Given the description of an element on the screen output the (x, y) to click on. 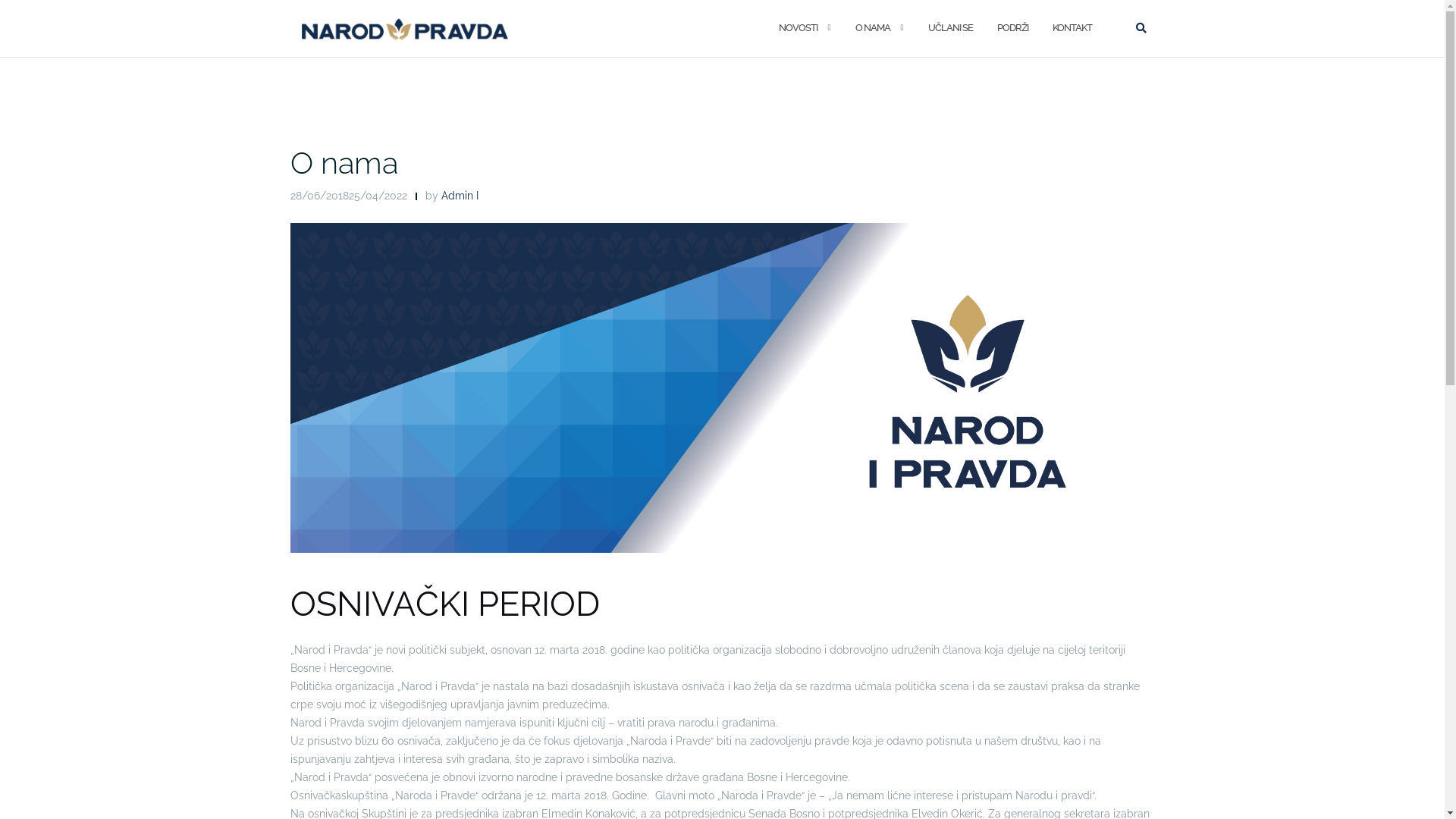
Admin I Element type: text (459, 195)
KONTAKT Element type: text (1072, 28)
NOVOSTI Element type: text (797, 28)
O nama Element type: text (343, 162)
O NAMA Element type: text (872, 28)
